Given the description of an element on the screen output the (x, y) to click on. 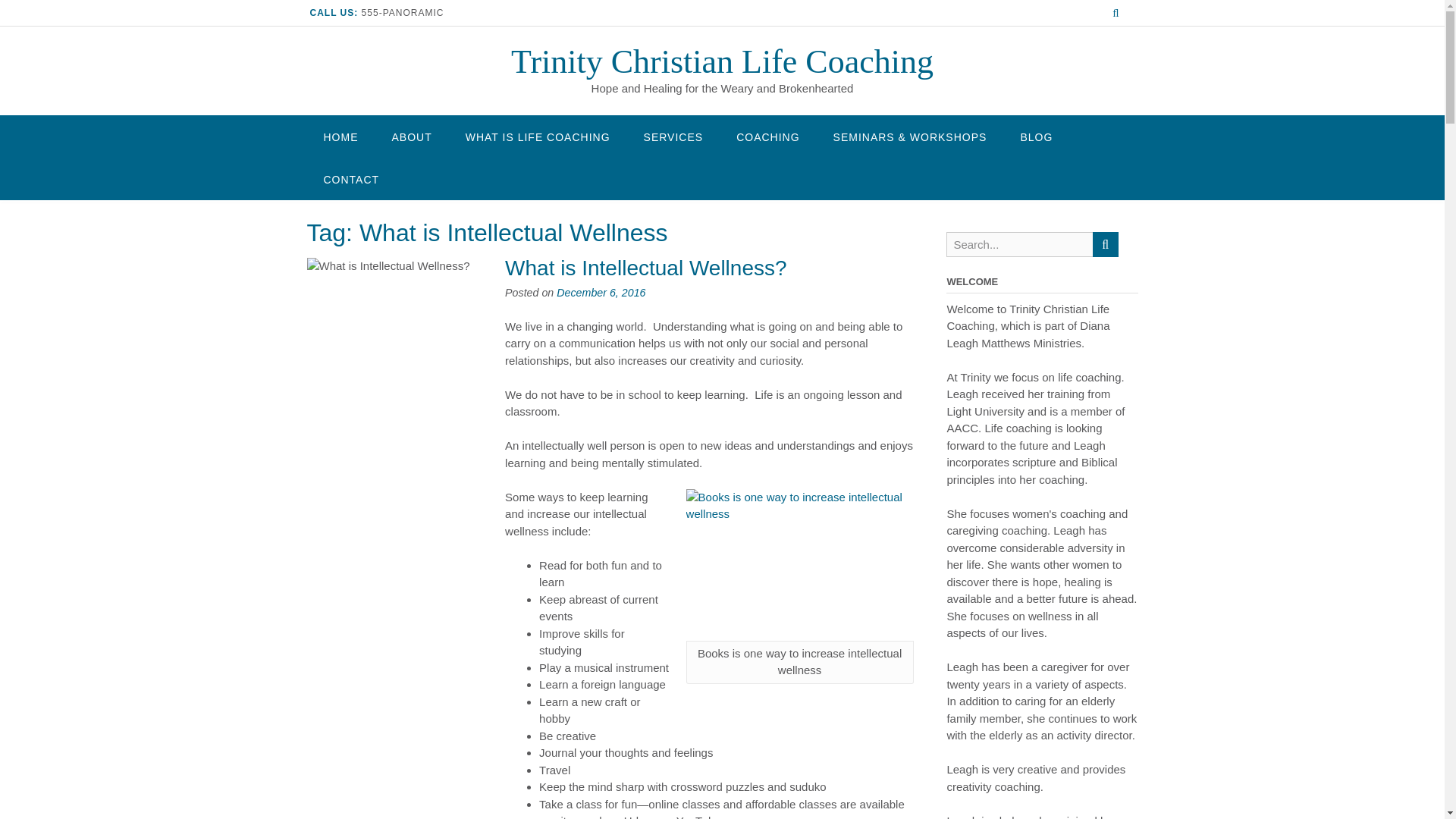
ABOUT (411, 136)
HOME (339, 136)
Trinity Christian Life Coaching (722, 61)
COACHING (767, 136)
CONTACT (350, 178)
BLOG (1035, 136)
WHAT IS LIFE COACHING (537, 136)
What is Intellectual Wellness? (645, 268)
SERVICES (673, 136)
Trinity Christian Life Coaching (722, 61)
Search for: (1019, 244)
December 6, 2016 (600, 292)
